Given the description of an element on the screen output the (x, y) to click on. 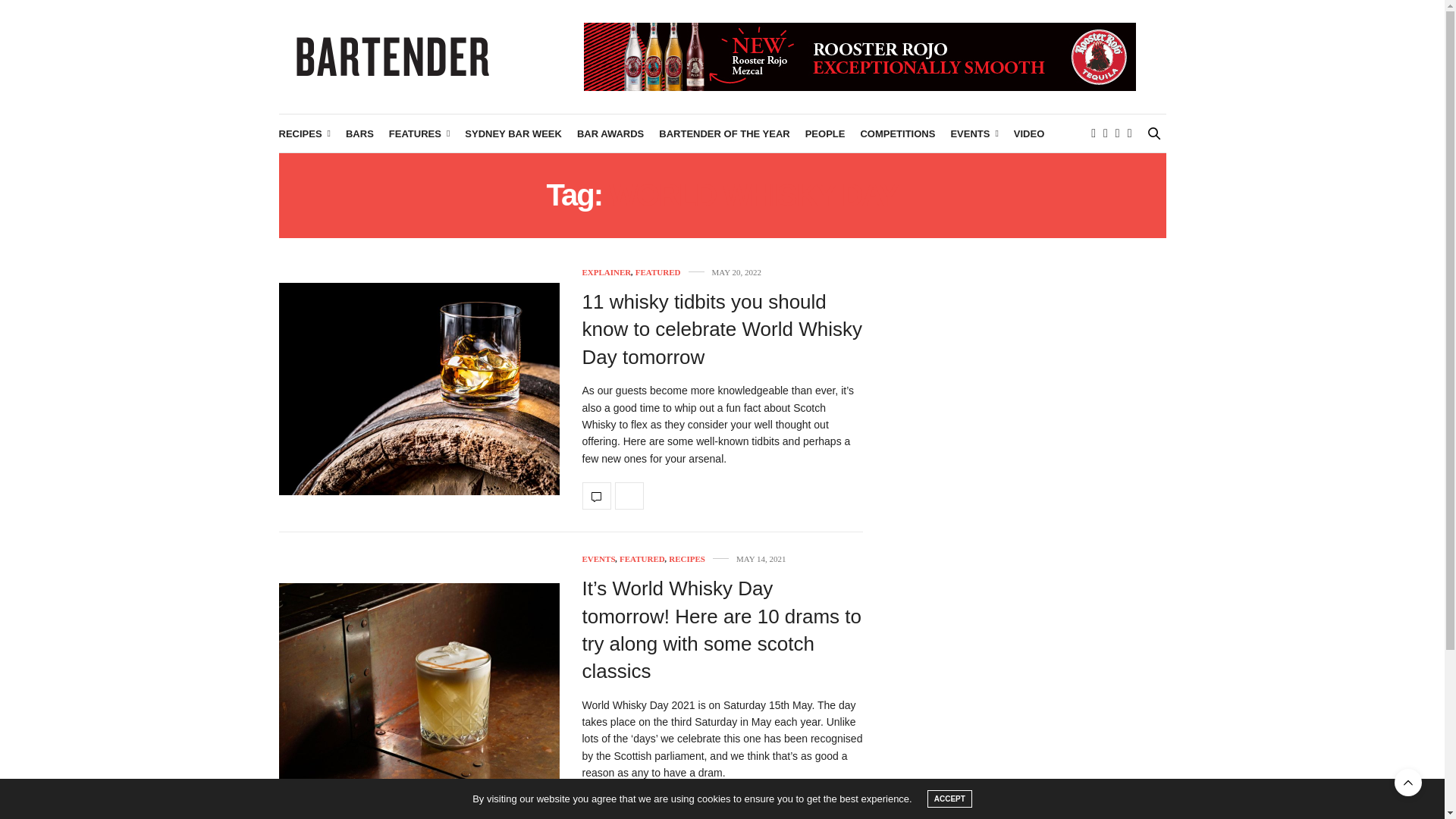
FEATURES (418, 133)
Scroll To Top (1408, 782)
australianbartender.com.au (393, 56)
RECIPES (304, 133)
